Given the description of an element on the screen output the (x, y) to click on. 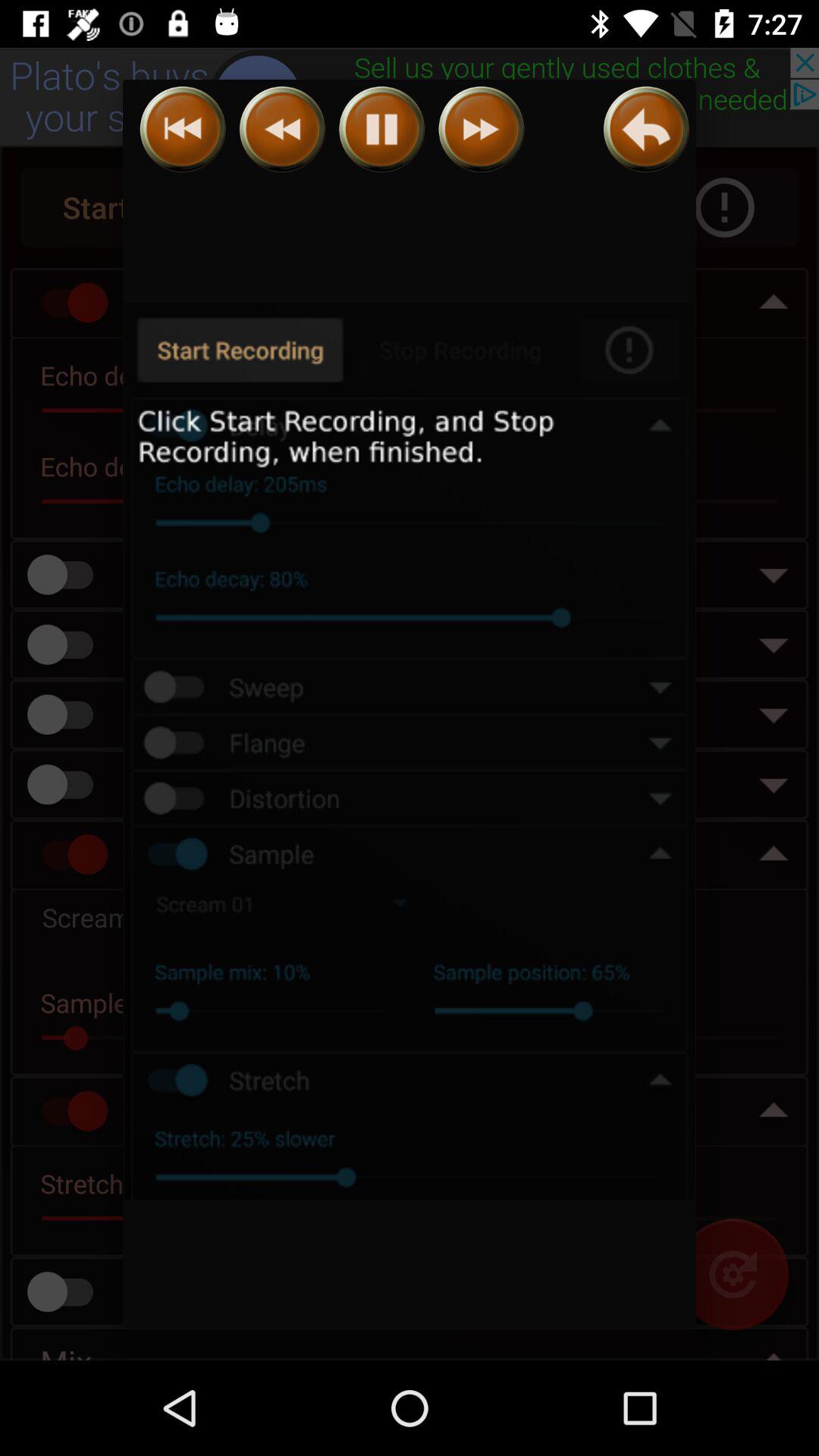
go to back (646, 129)
